Given the description of an element on the screen output the (x, y) to click on. 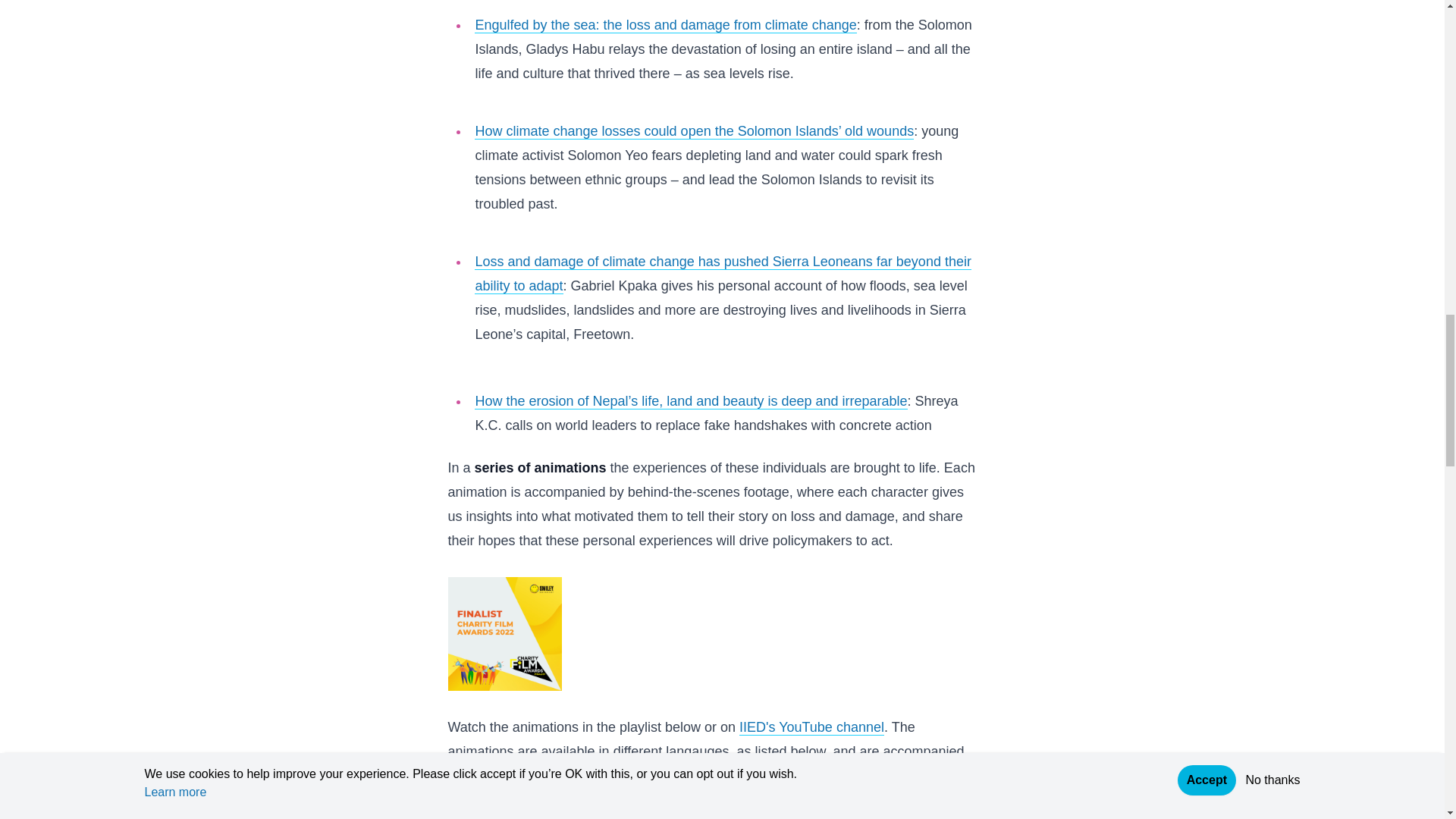
Engulfed by the sea: the loss and damage from climate change (665, 25)
